Given the description of an element on the screen output the (x, y) to click on. 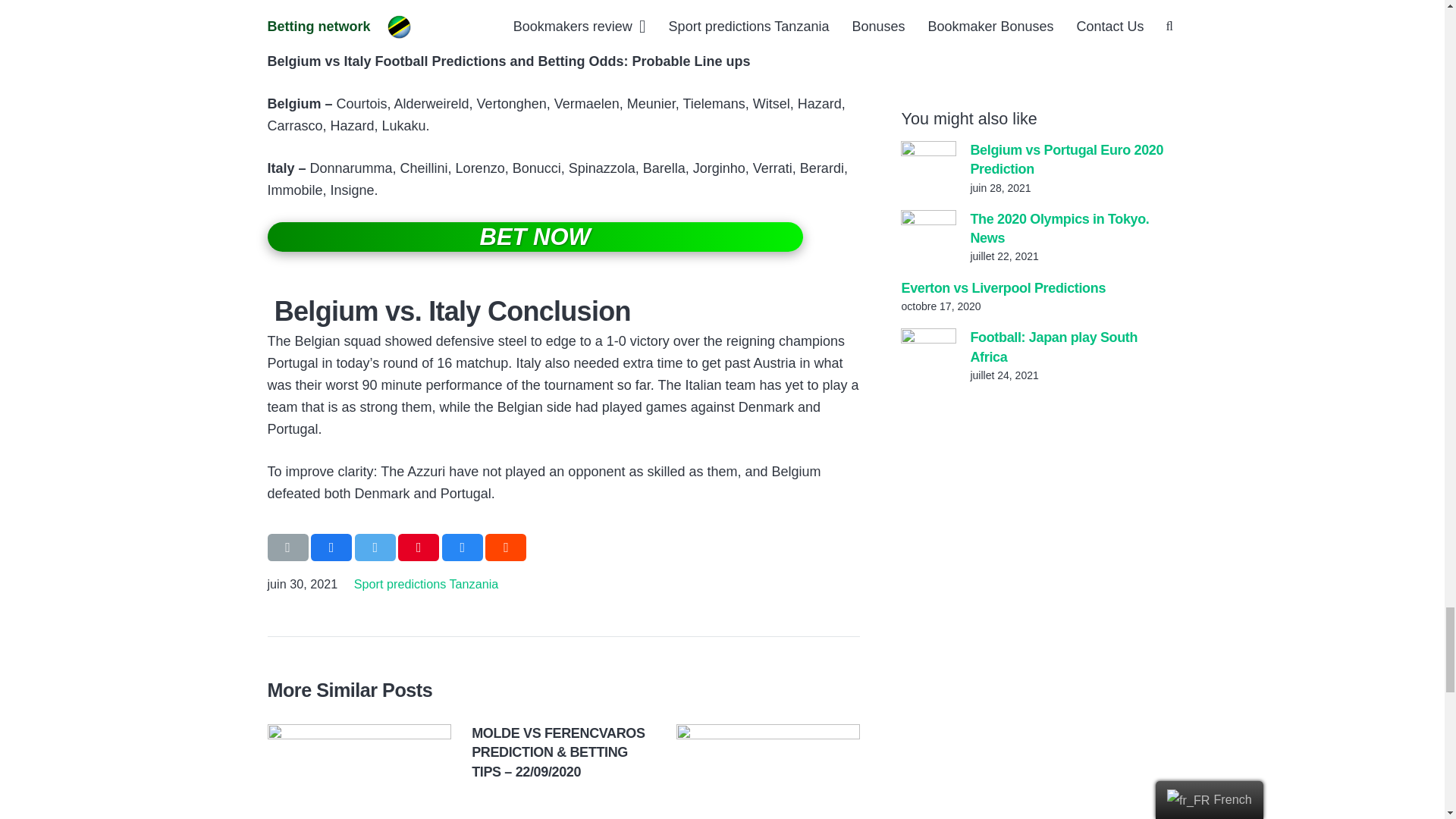
Twitter ceci (375, 547)
BET NOW (534, 236)
Envoyer ceci par courriel (286, 547)
Partager ceci (462, 547)
Sport predictions Tanzania (425, 583)
Partager ceci (331, 547)
Partager ceci (504, 547)
Epingler ceci (418, 547)
